Given the description of an element on the screen output the (x, y) to click on. 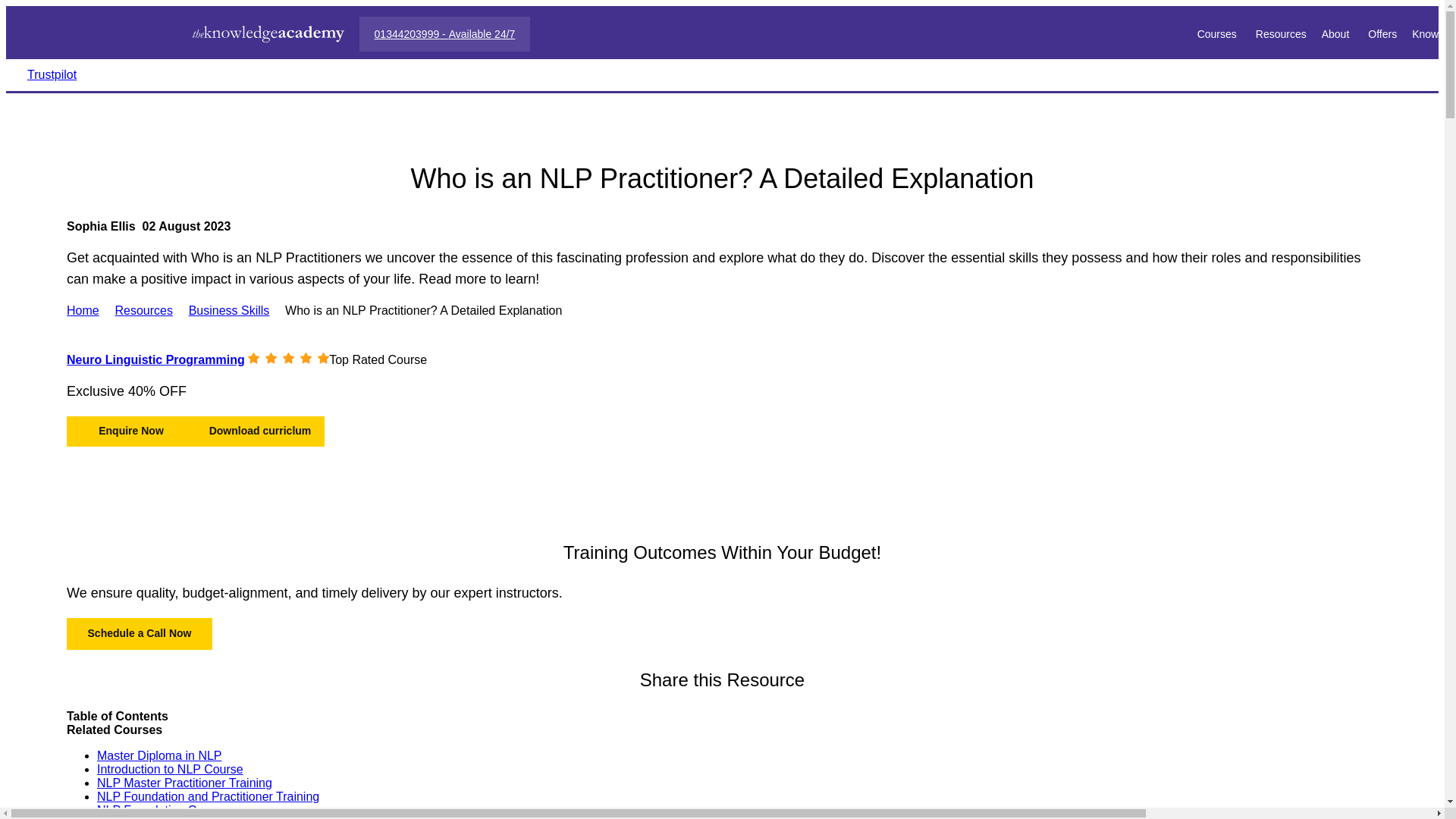
NLP Master Practitioner Training (184, 782)
Enquire Now (130, 431)
KnowledgePass (1434, 33)
Introduction to NLP Course (170, 768)
Courses (1218, 33)
Schedule a Call Now (139, 634)
NLP Foundation and Practitioner Training (207, 796)
Trustpilot (52, 74)
Neuro Linguistic Programming (155, 359)
Offers (1382, 33)
